Given the description of an element on the screen output the (x, y) to click on. 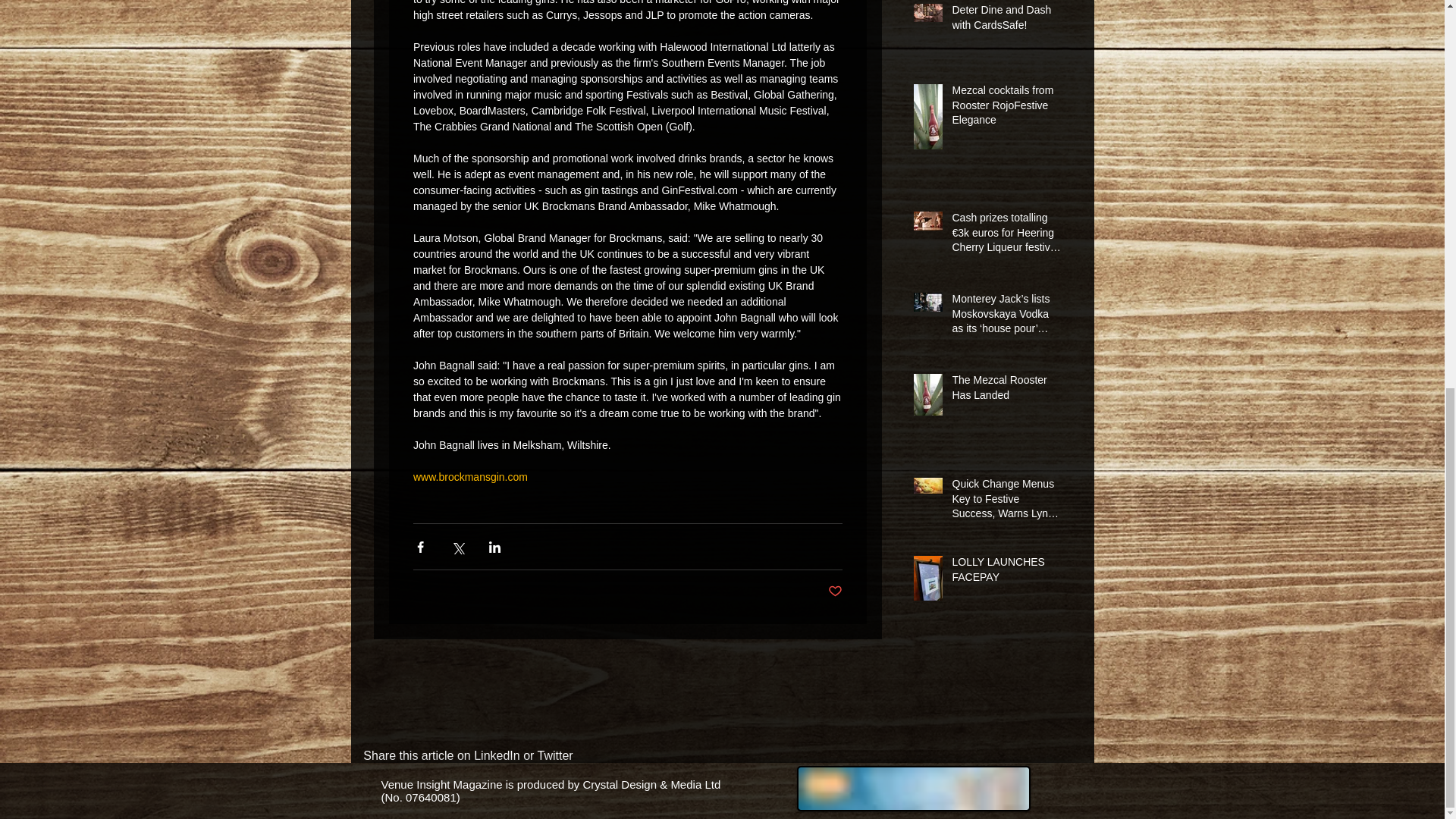
Deter Dine and Dash with CardsSafe! (1006, 20)
Post not marked as liked (835, 591)
www.brockmansgin.com (469, 476)
LOLLY LAUNCHES FACEPAY (1006, 572)
Mezcal cocktails from Rooster RojoFestive Elegance (1006, 108)
The Mezcal Rooster Has Landed (1006, 390)
